Given the description of an element on the screen output the (x, y) to click on. 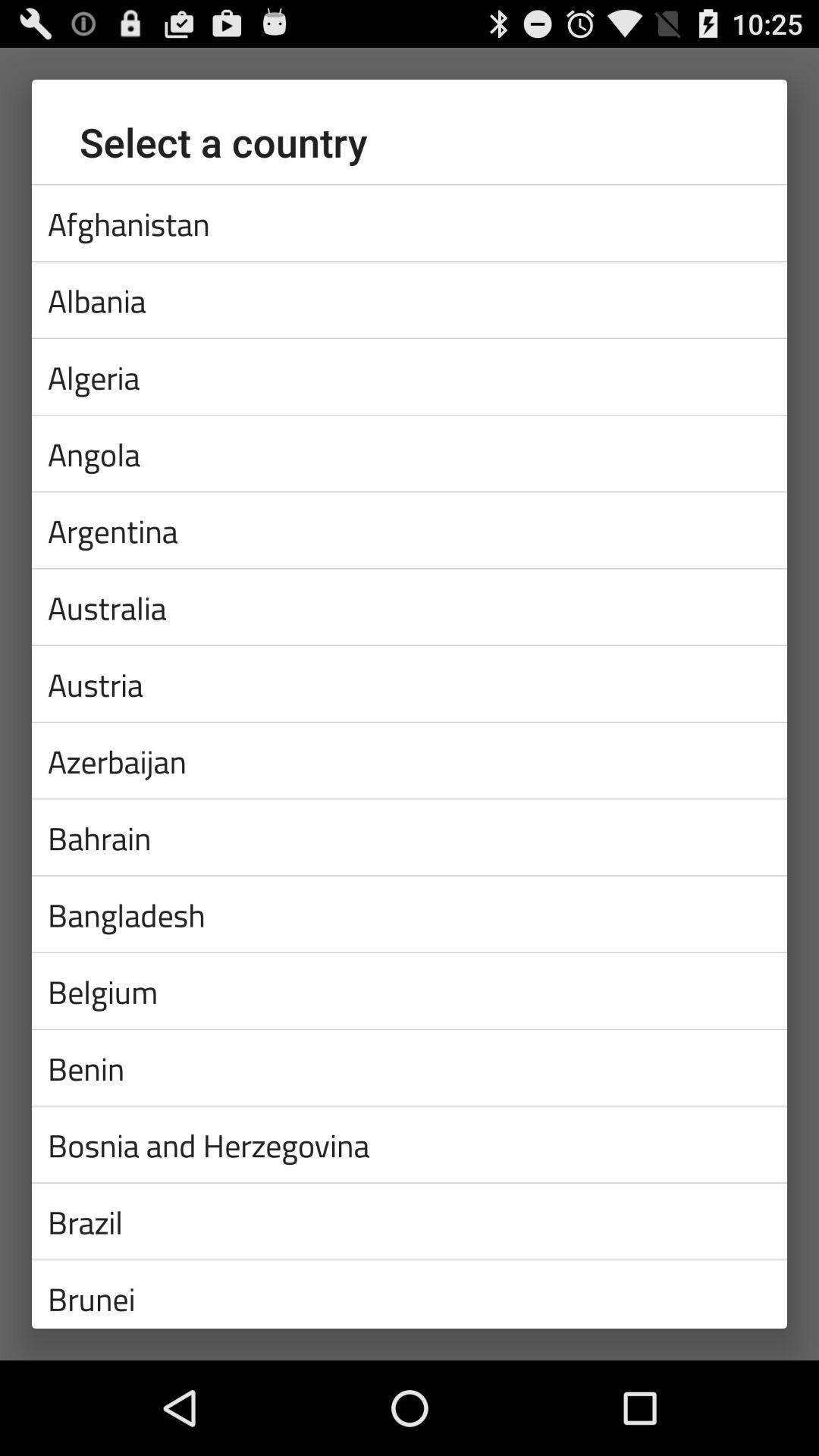
flip until the angola icon (409, 453)
